Given the description of an element on the screen output the (x, y) to click on. 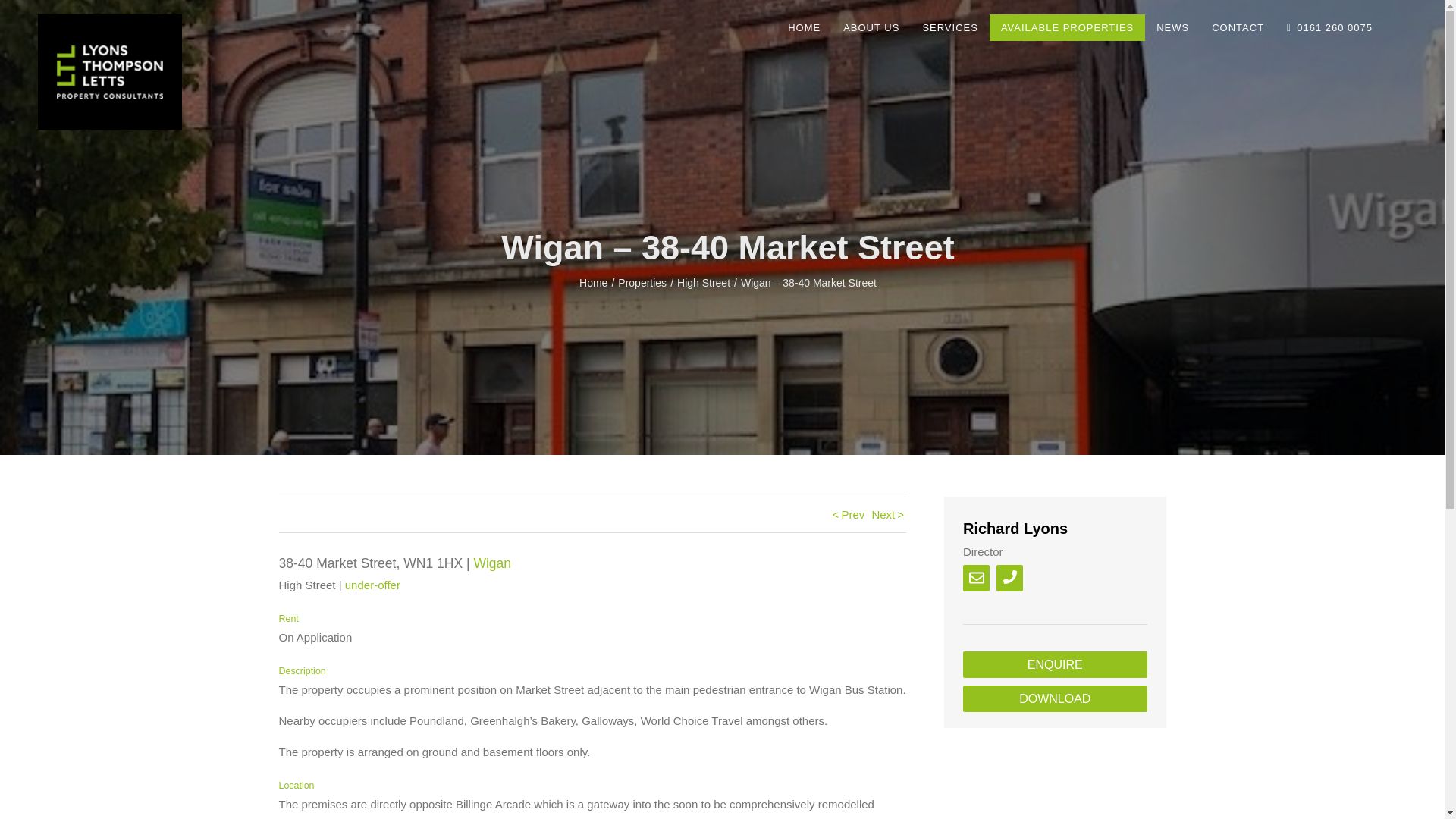
0161 260 0075 (1329, 27)
Home (593, 282)
High Street (703, 282)
SERVICES (950, 27)
Home (593, 282)
Page 1 (593, 806)
High Street (703, 282)
DOWNLOAD (1054, 698)
Page 1 (593, 721)
HOME (803, 27)
